Given the description of an element on the screen output the (x, y) to click on. 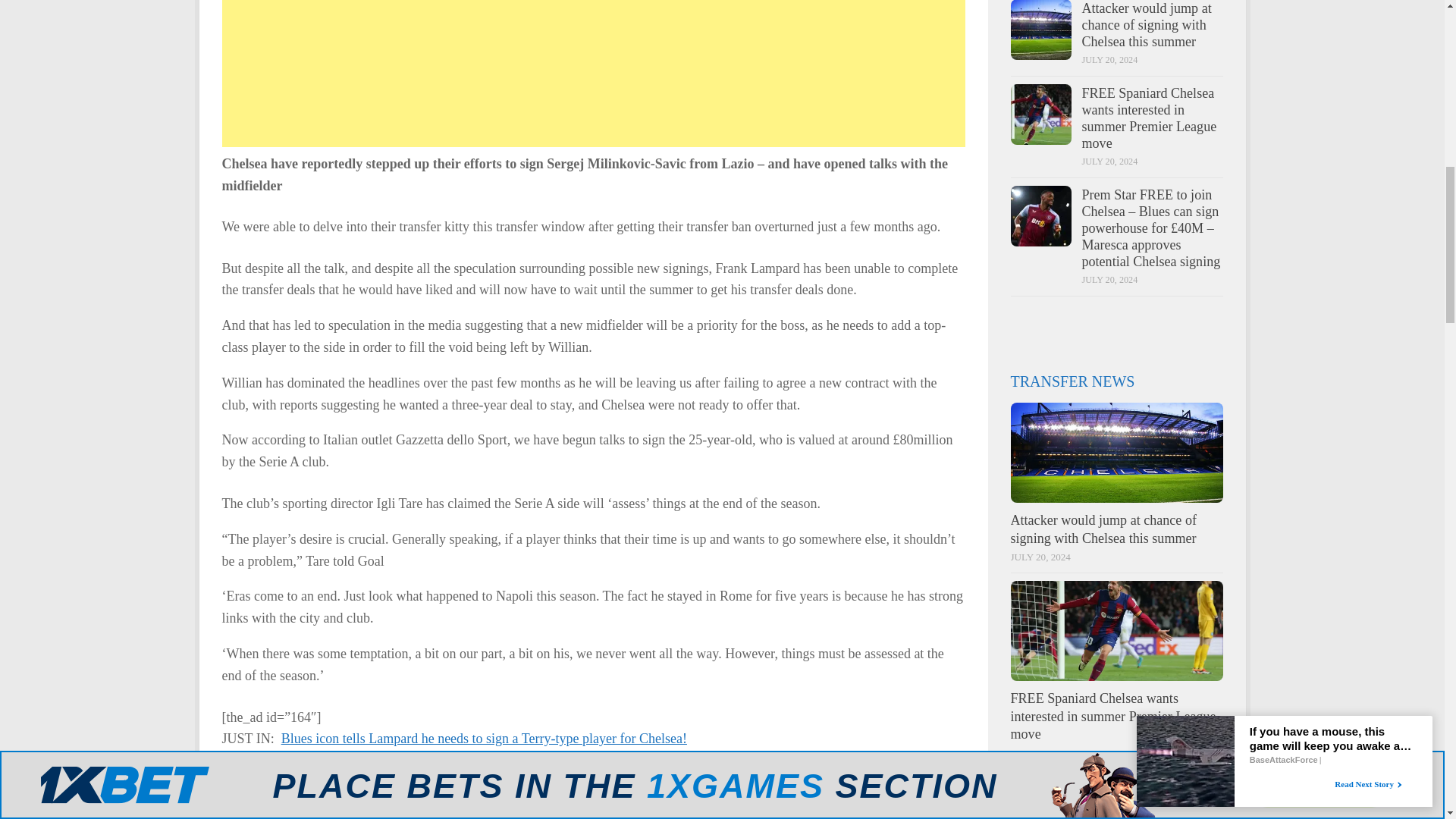
Advertisement (592, 73)
